Given the description of an element on the screen output the (x, y) to click on. 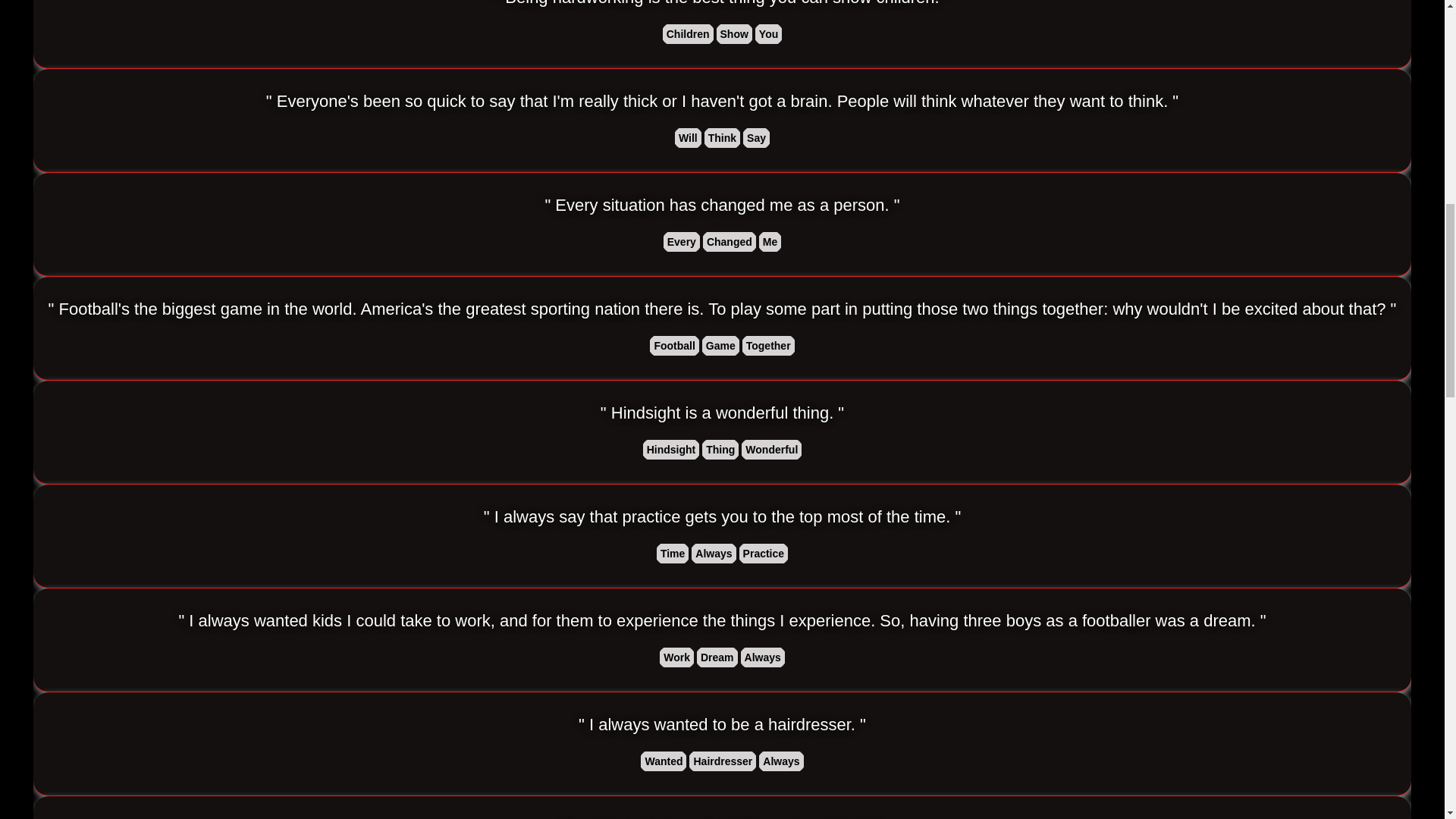
Show (734, 33)
You (768, 33)
Will (687, 137)
Children (687, 33)
Every (681, 241)
" Every situation has changed me as a person. " (721, 205)
Think (722, 137)
Say (756, 137)
